Given the description of an element on the screen output the (x, y) to click on. 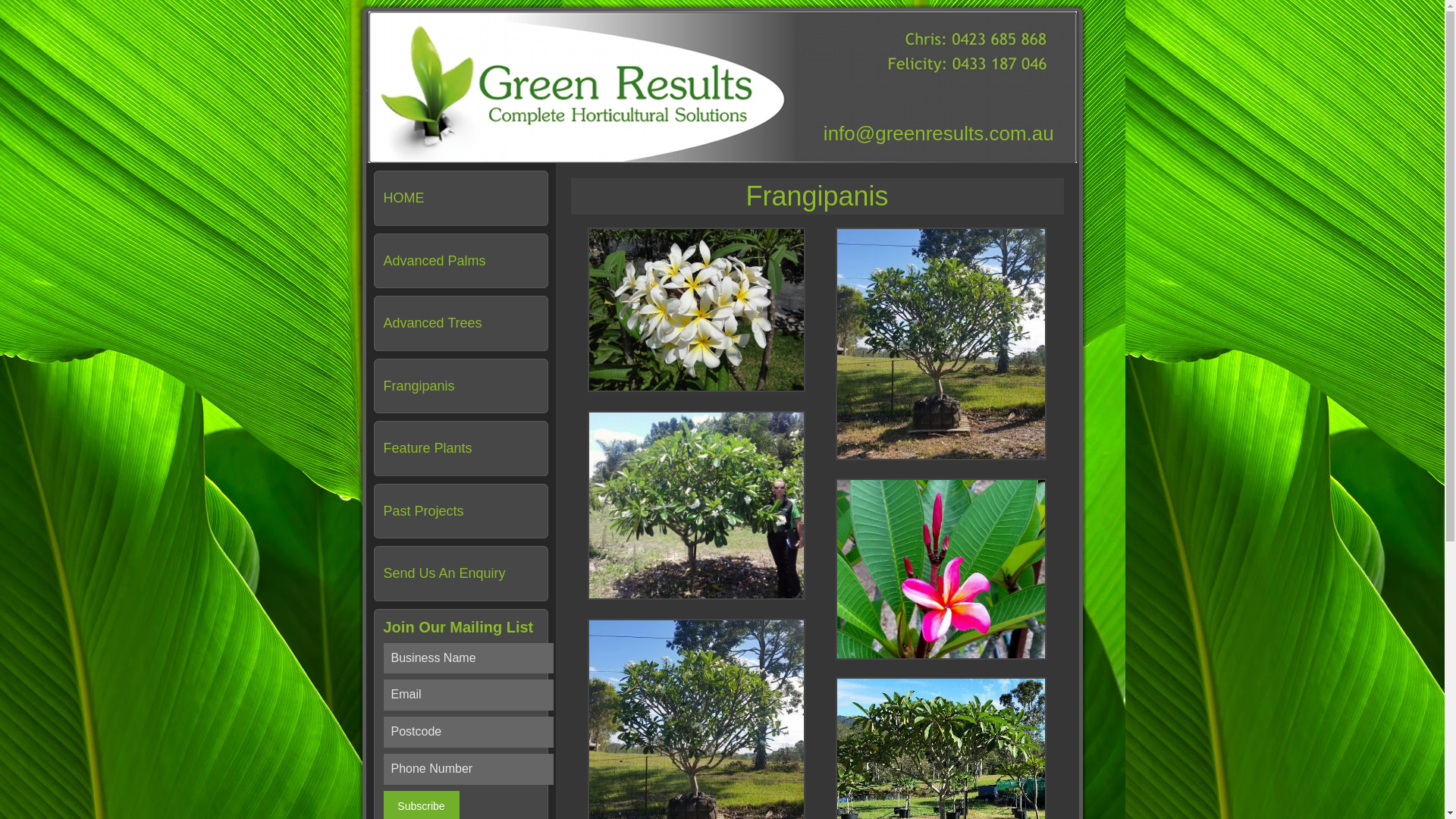
Plumeria acutifolia flower Element type: hover (695, 309)
Send Us An Enquiry Element type: text (444, 572)
Feature Plants Element type: text (427, 447)
Plumeria obtusa containerised Element type: hover (940, 343)
info@greenresults.com.au Element type: text (938, 133)
Advanced Palms Element type: text (434, 260)
Advanced Trees Element type: text (432, 322)
Plumeria obtusa exground Element type: hover (695, 505)
HOME Element type: text (403, 197)
Frangipanis Element type: text (419, 384)
Plumeria rubra flower Element type: hover (940, 568)
Past Projects Element type: text (423, 510)
